Given the description of an element on the screen output the (x, y) to click on. 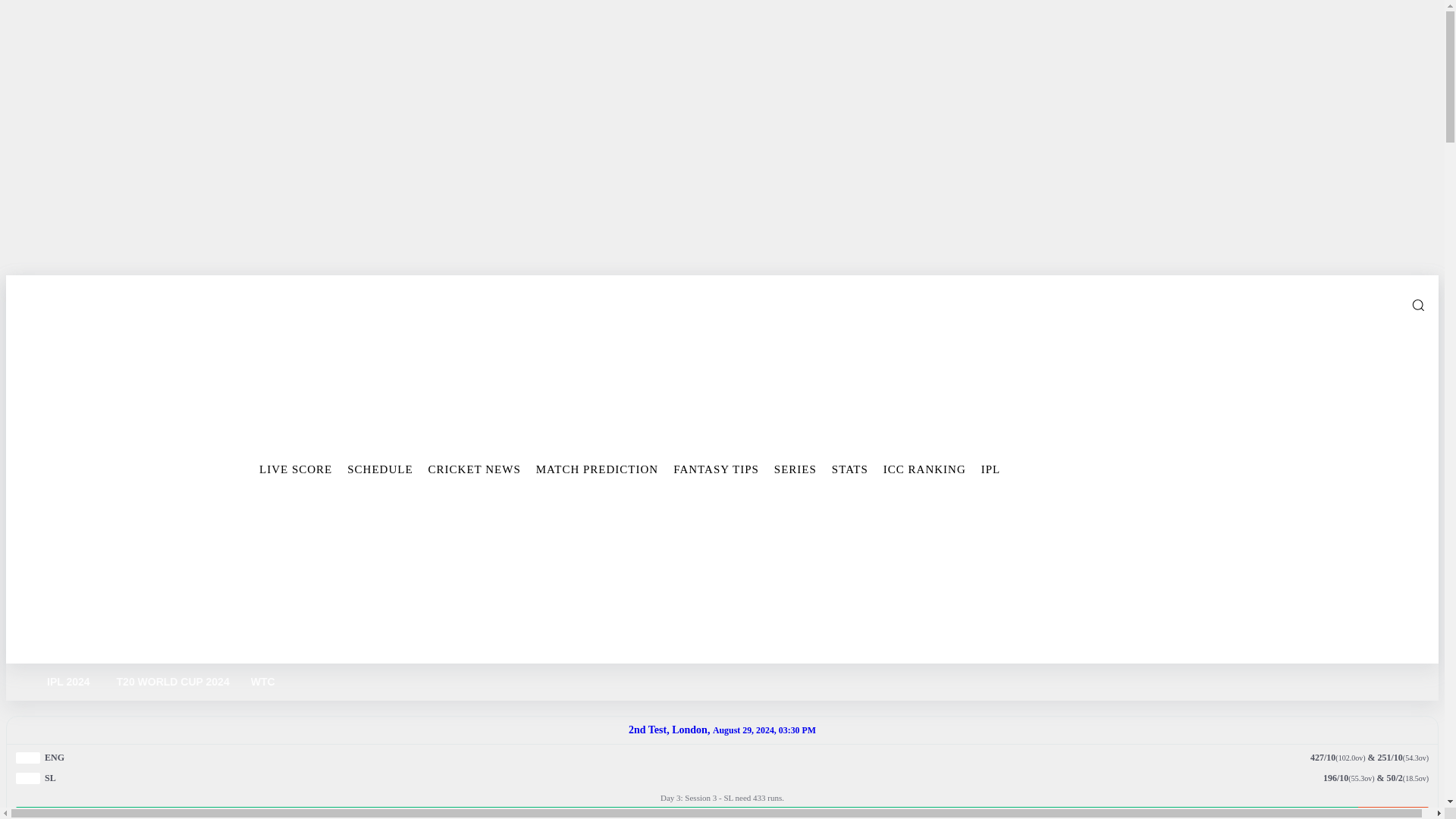
FANTASY TIPS (716, 469)
ICC RANKING (925, 469)
LIVE SCORE (295, 469)
SERIES (795, 469)
STATS (850, 469)
CRICKET NEWS (474, 469)
MATCH PREDICTION (596, 469)
SCHEDULE (379, 469)
